Given the description of an element on the screen output the (x, y) to click on. 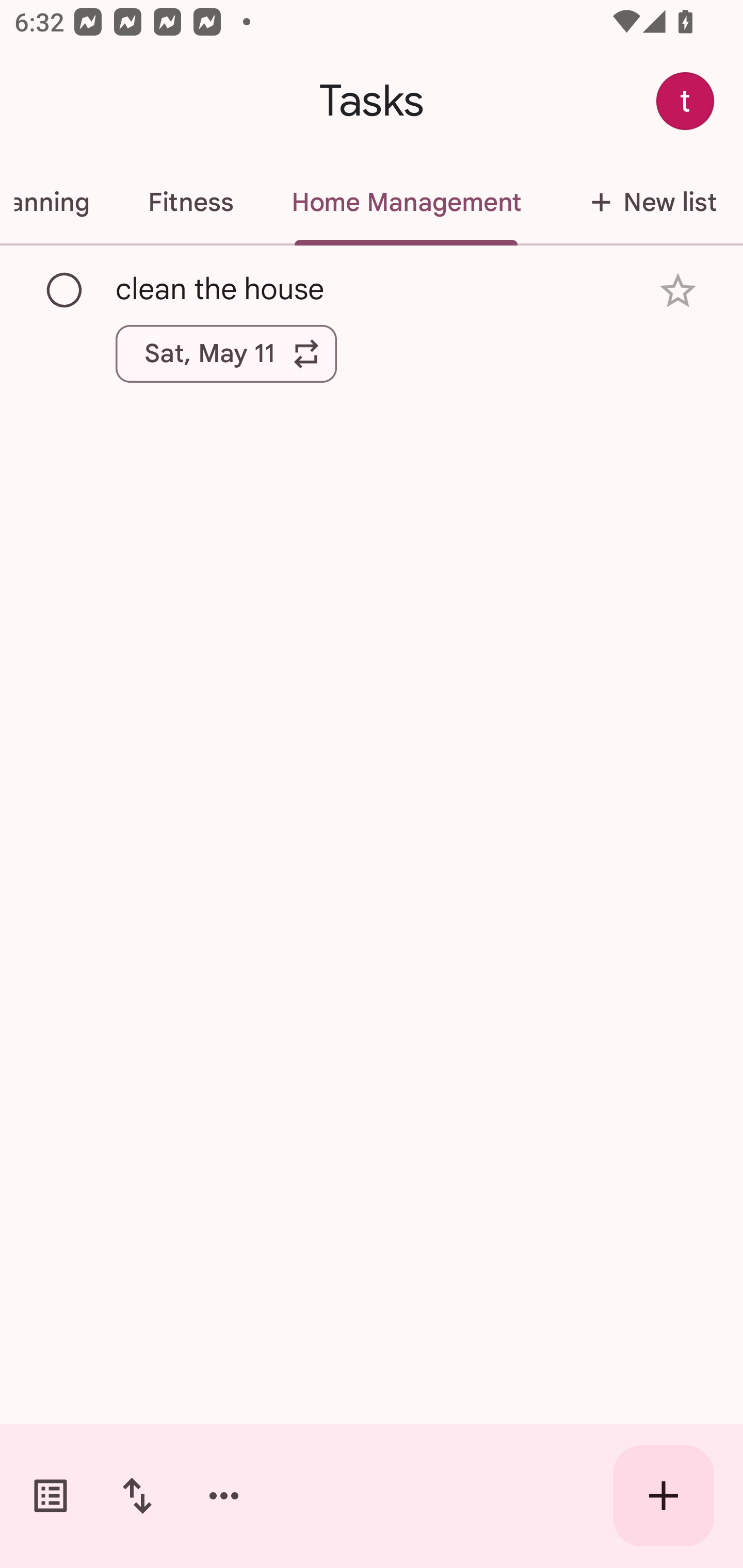
Holiday Planning (59, 202)
Fitness (190, 202)
New list (646, 202)
Add star (677, 290)
Mark as complete (64, 290)
Sat, May 11 (225, 353)
Switch task lists (50, 1495)
Create new task (663, 1495)
Change sort order (136, 1495)
More options (223, 1495)
